Given the description of an element on the screen output the (x, y) to click on. 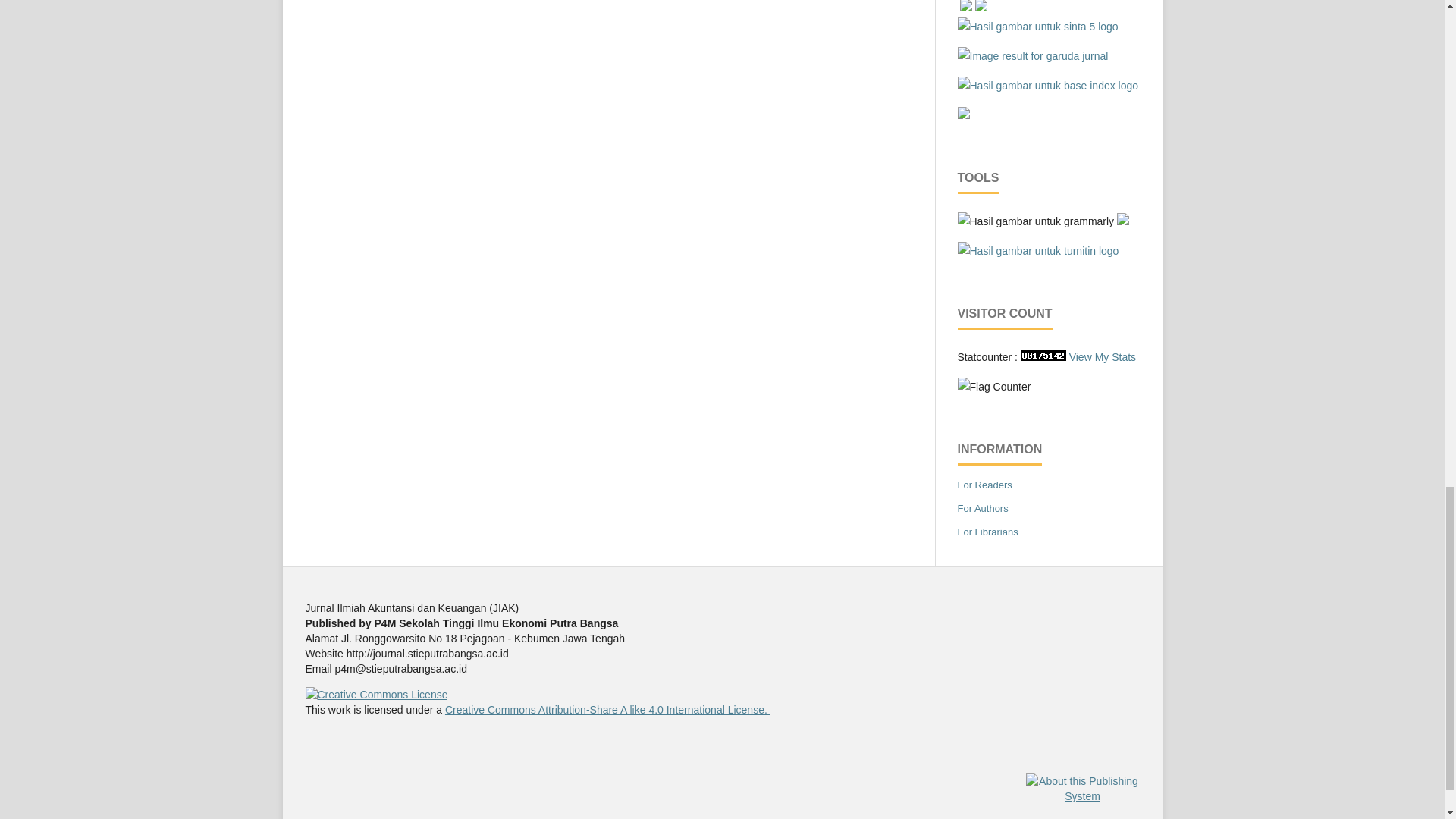
DOAJ (962, 114)
Web Analytics (1042, 357)
PKP Index (965, 7)
Base (1047, 85)
